Given the description of an element on the screen output the (x, y) to click on. 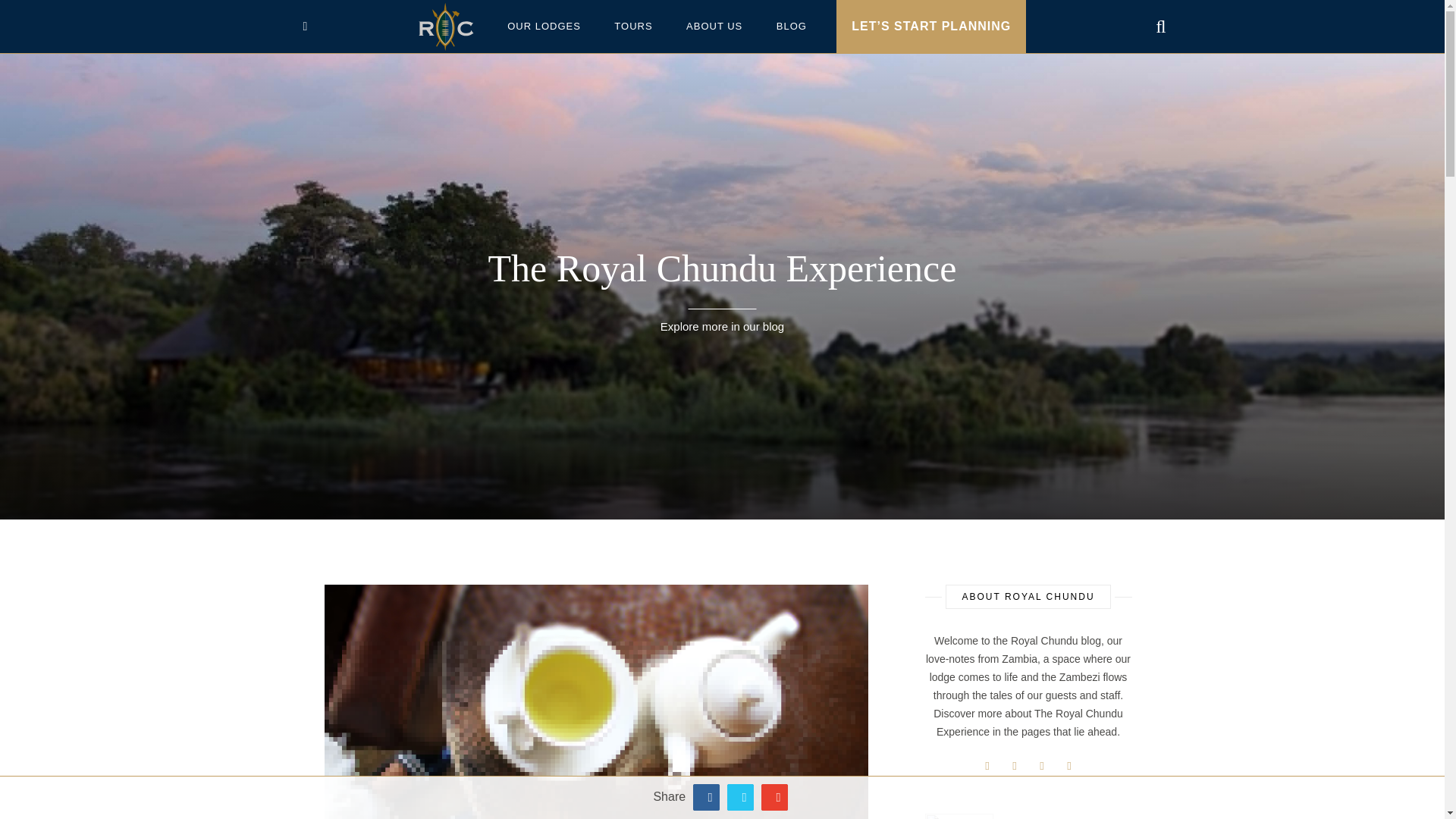
ABOUT US (714, 26)
OUR LODGES (543, 26)
BLOG (791, 26)
TOURS (632, 26)
LOGO (446, 26)
